Given the description of an element on the screen output the (x, y) to click on. 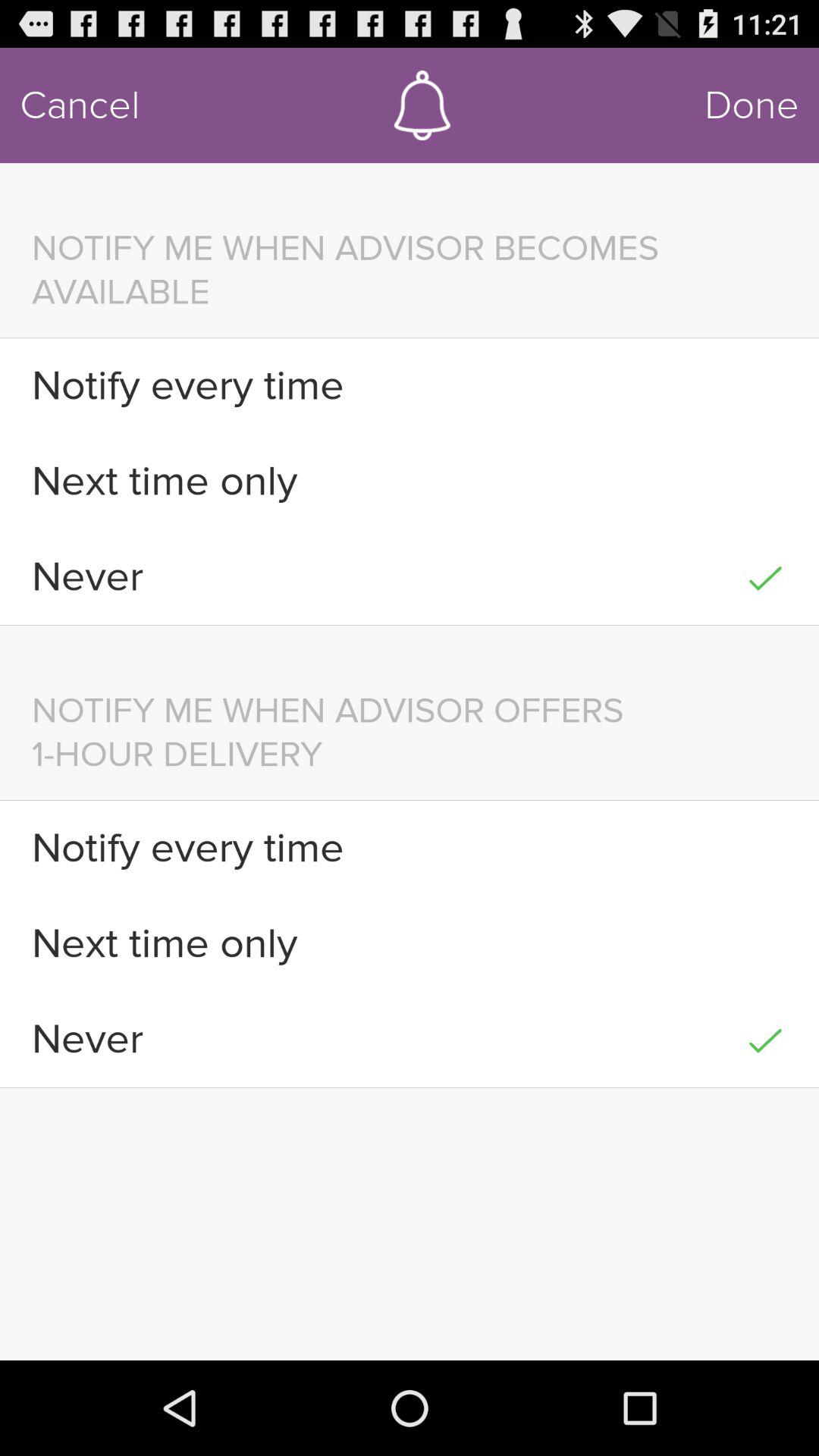
turn on the item at the bottom right corner (765, 1039)
